Given the description of an element on the screen output the (x, y) to click on. 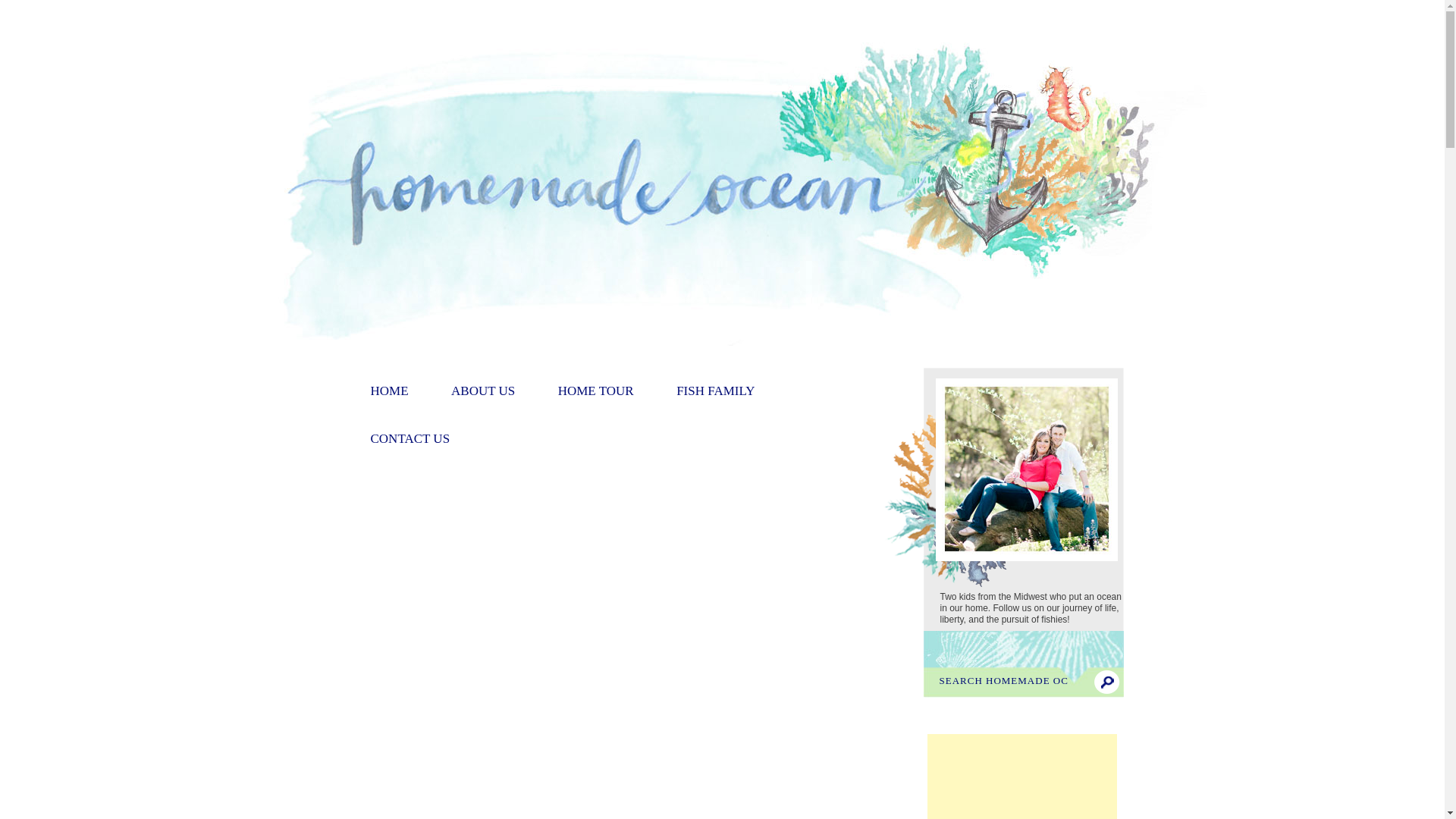
Search (1106, 682)
Homemade Ocean (721, 341)
FISH FAMILY (715, 391)
HOME TOUR (595, 391)
Search (1106, 682)
CONTACT US (409, 439)
Skip to content (655, 375)
Advertisement (1021, 776)
Skip to content (655, 375)
ABOUT US (483, 391)
